Given the description of an element on the screen output the (x, y) to click on. 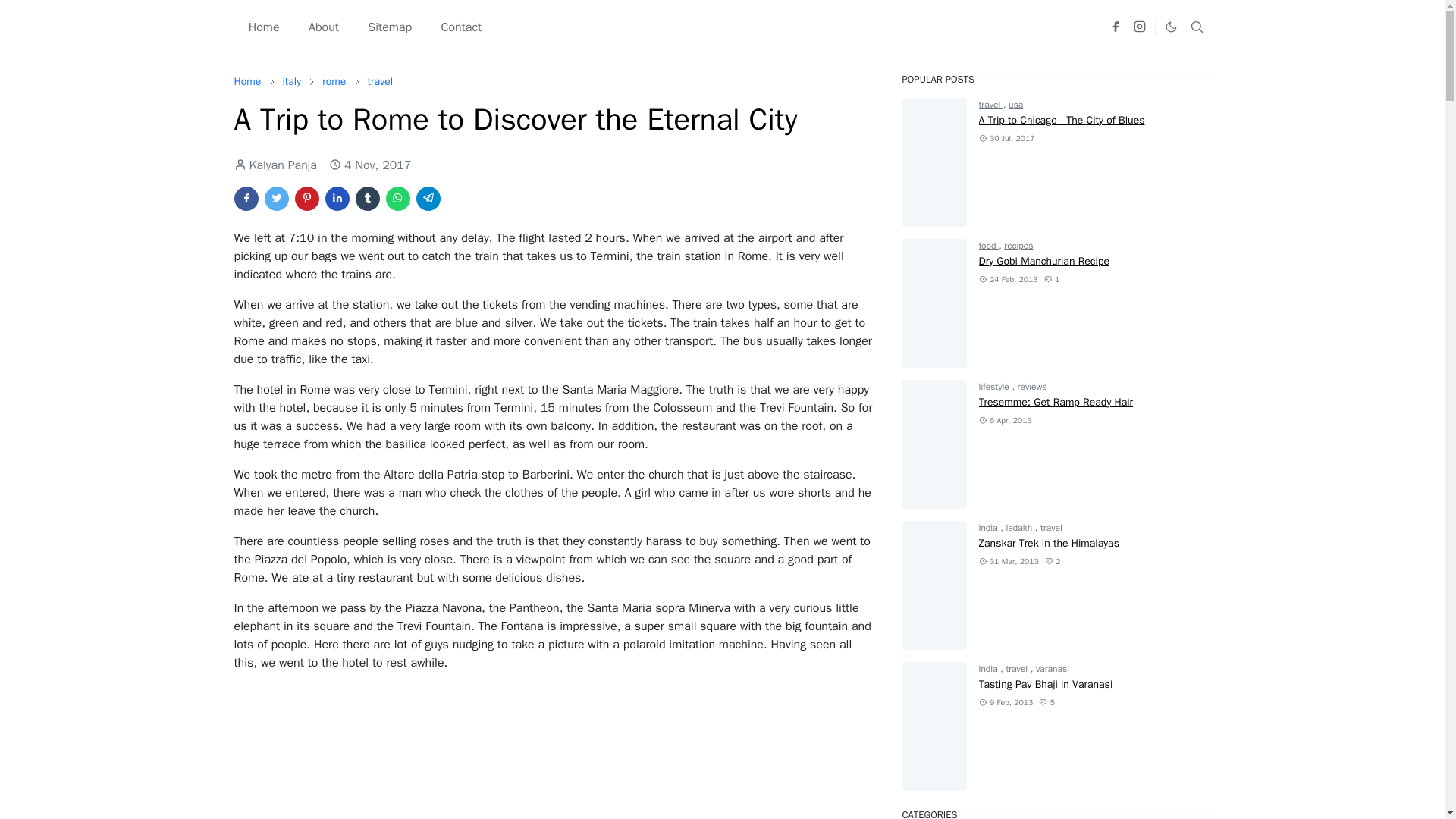
Facebook Share (244, 198)
travel (380, 81)
rome (333, 81)
Sitemap (389, 27)
india (989, 527)
Linkedin Share (336, 198)
Share to telegram (426, 198)
Dry Gobi Manchurian Recipe (1043, 260)
italy (291, 81)
travel (380, 81)
food (988, 245)
Home (246, 81)
usa (1016, 104)
reviews (1031, 386)
travel (990, 104)
